Given the description of an element on the screen output the (x, y) to click on. 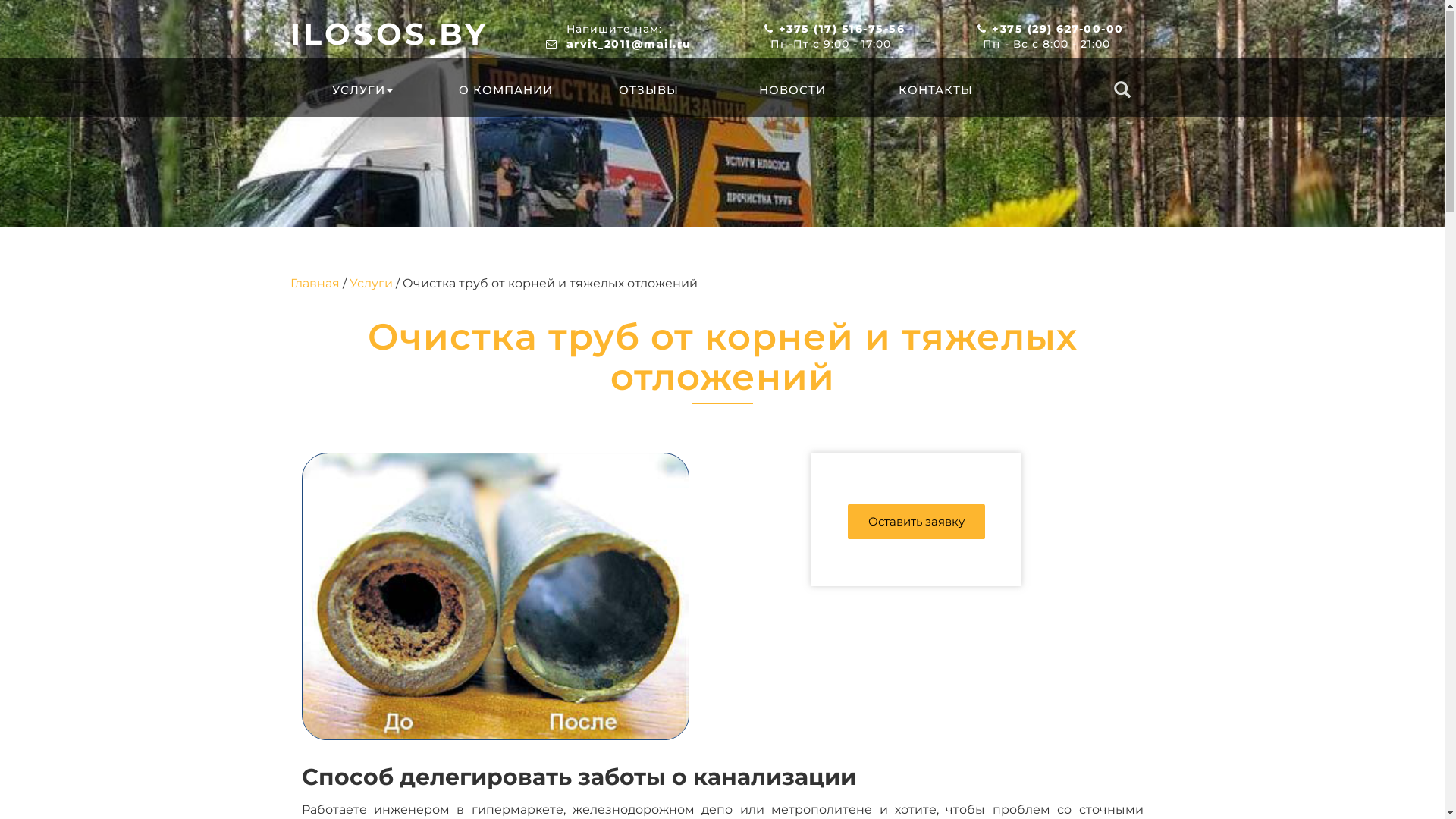
+375 (29) 627-00-00 Element type: text (1057, 29)
arvit_2011@mail.ru Element type: text (627, 44)
ILOSOS.BY Element type: text (397, 34)
+375 (17) 516-75-56 Element type: text (841, 29)
